Given the description of an element on the screen output the (x, y) to click on. 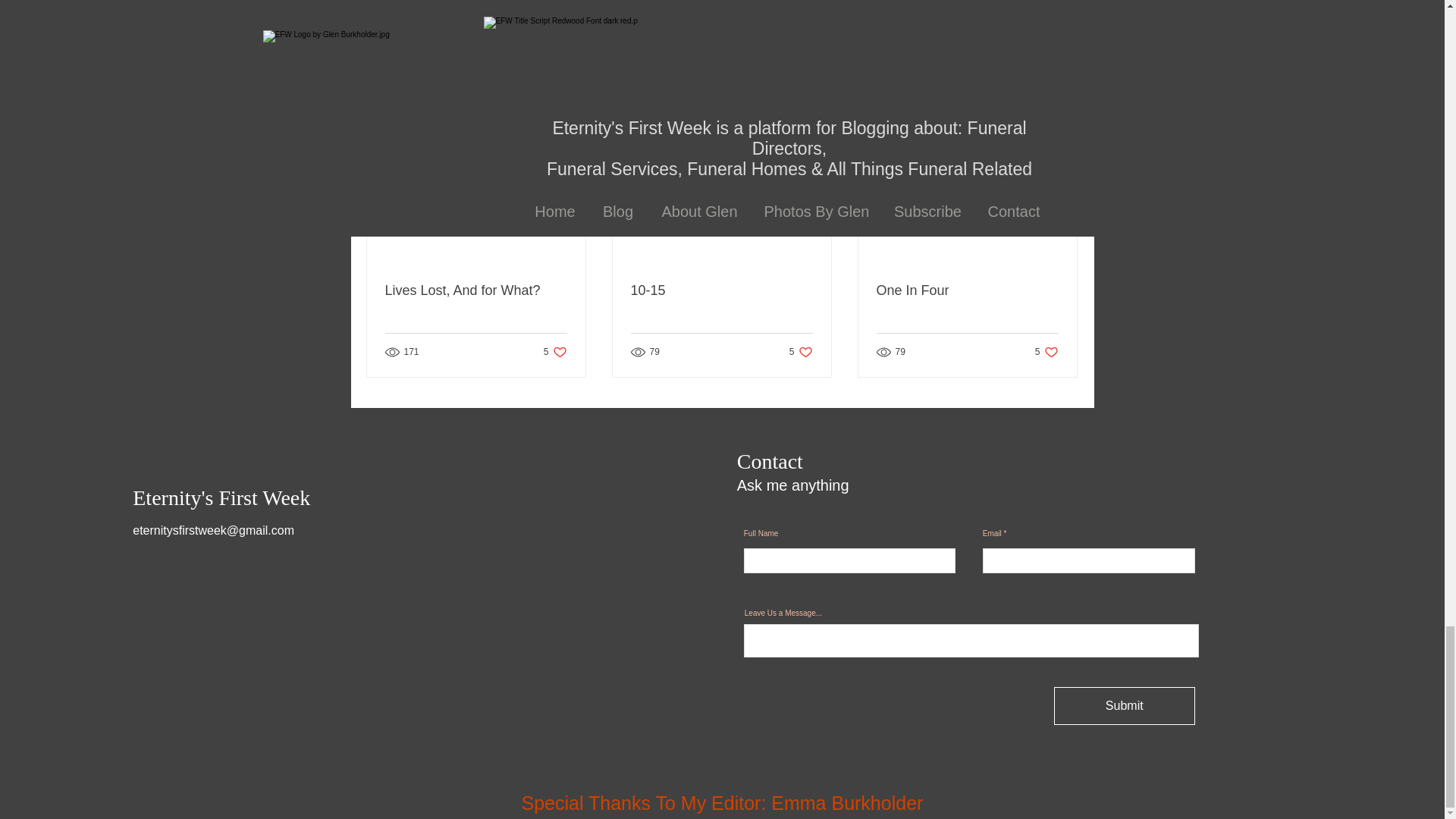
One In Four (967, 290)
See All (1046, 350)
Submit (1061, 115)
Lives Lost, And for What? (800, 350)
10-15 (555, 350)
